Given the description of an element on the screen output the (x, y) to click on. 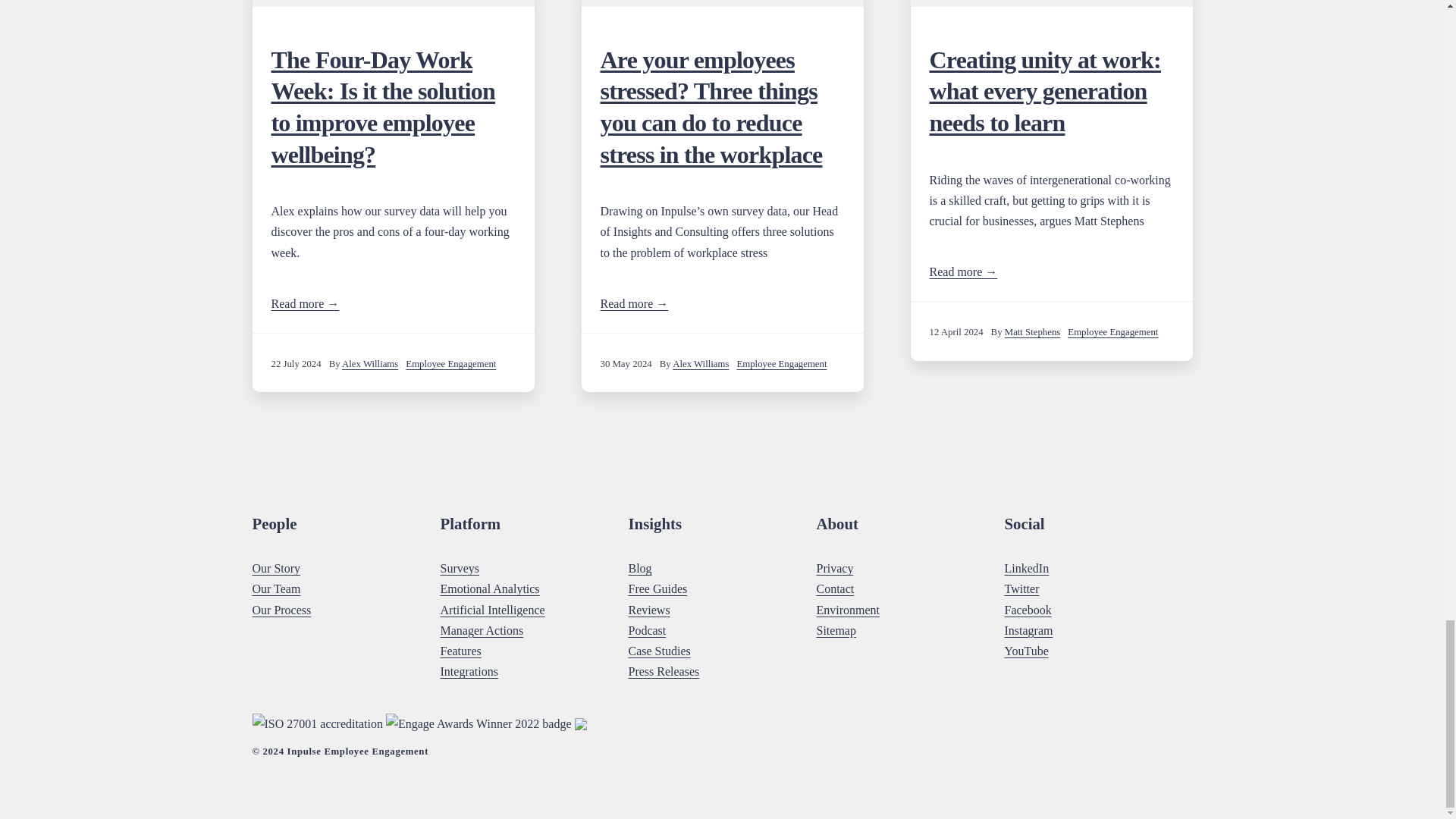
Creating unity at work: what every generation needs to learn (1045, 90)
Alex Williams (369, 363)
Employee Engagement (781, 363)
Alex Williams (700, 363)
Matt Stephens (1032, 331)
Employee Engagement (451, 363)
